Given the description of an element on the screen output the (x, y) to click on. 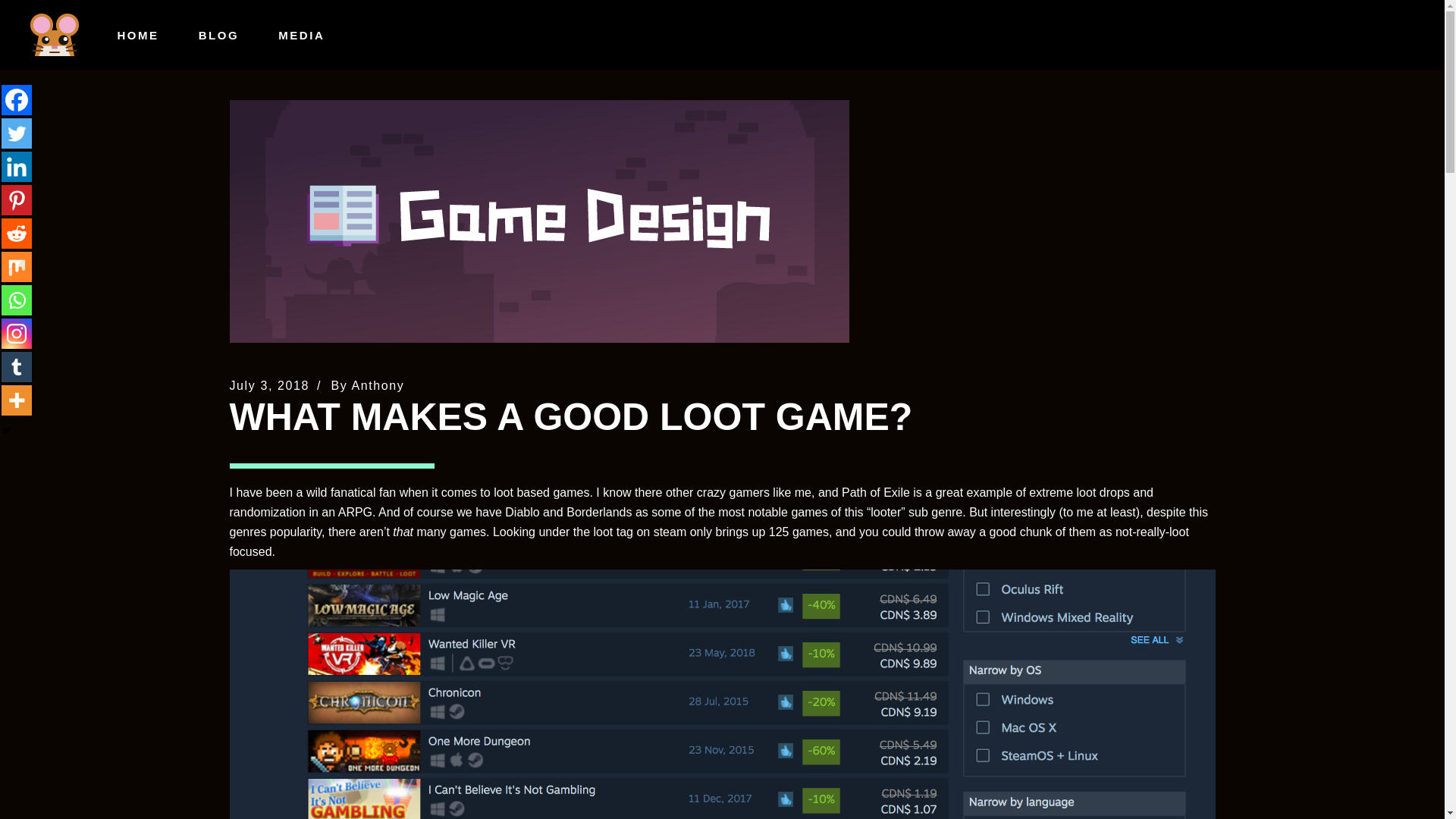
Hide (5, 430)
Reddit (16, 233)
HOME (137, 34)
Facebook (16, 100)
Mix (16, 266)
Tumblr (16, 367)
Pinterest (16, 200)
Twitter (16, 132)
Linkedin (16, 166)
Instagram (16, 333)
July 3, 2018 (268, 385)
Anthony (377, 385)
Whatsapp (16, 300)
BLOG (219, 34)
More (16, 399)
